Given the description of an element on the screen output the (x, y) to click on. 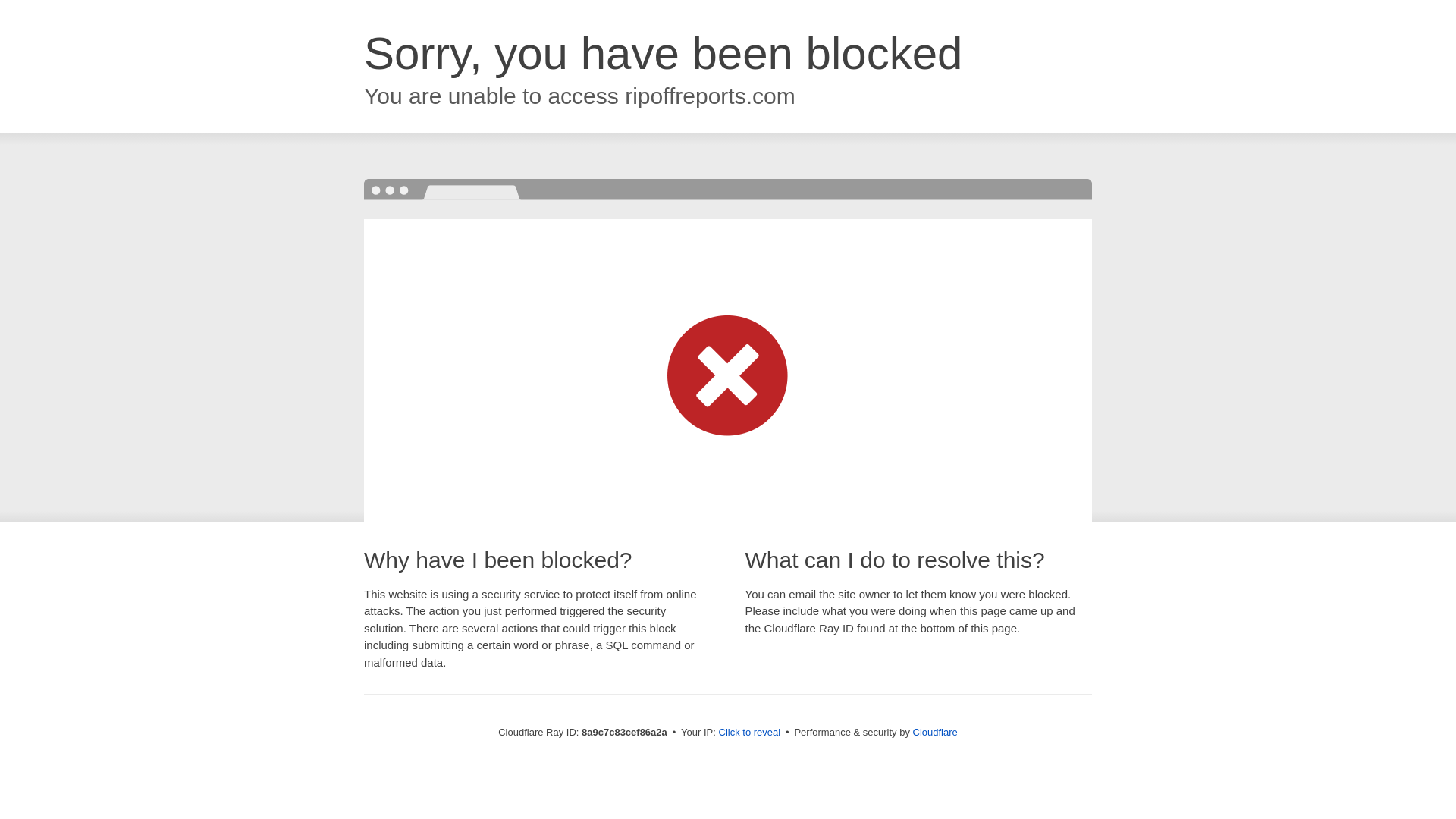
Click to reveal (749, 732)
Cloudflare (935, 731)
